Given the description of an element on the screen output the (x, y) to click on. 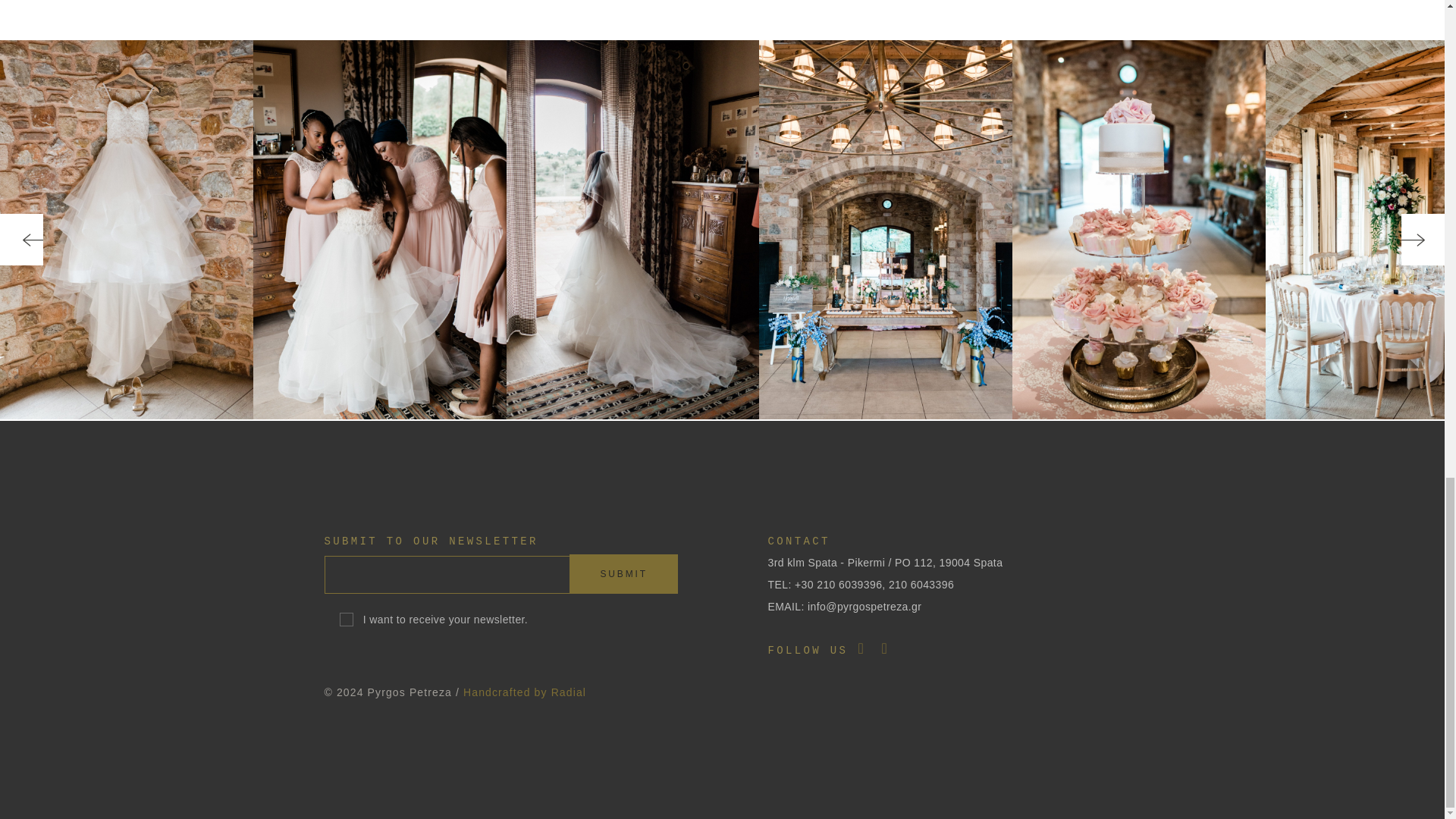
SUBMIT (623, 573)
